Given the description of an element on the screen output the (x, y) to click on. 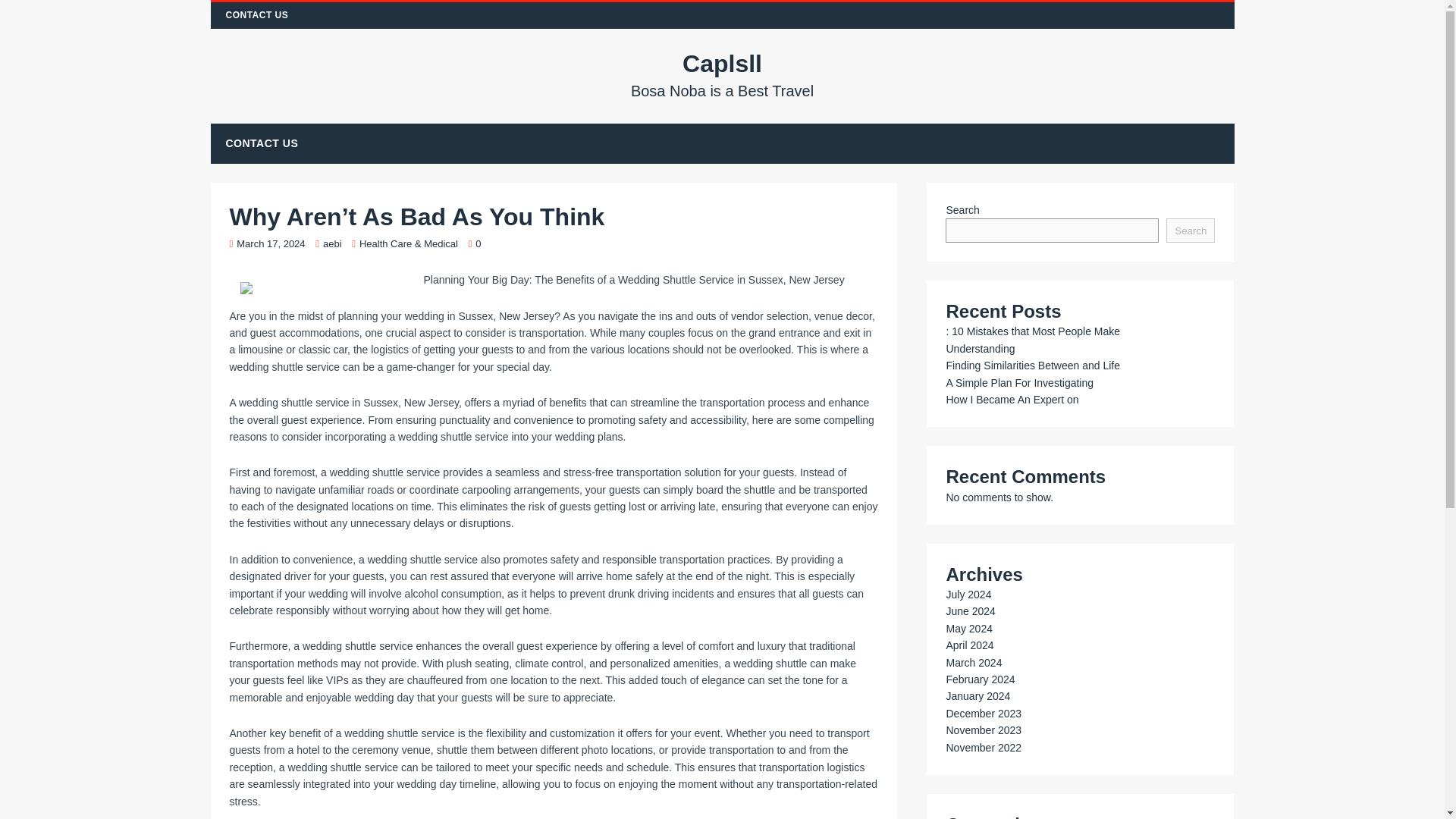
May 2024 (967, 628)
July 2024 (967, 594)
April 2024 (968, 645)
November 2022 (983, 747)
June 2024 (969, 611)
Finding Similarities Between and Life (1031, 365)
: 10 Mistakes that Most People Make (1031, 331)
Understanding (979, 348)
March 2024 (972, 662)
January 2024 (977, 695)
December 2023 (983, 713)
CONTACT US (262, 142)
Search (1190, 230)
Caplsll (722, 74)
November 2023 (983, 729)
